Given the description of an element on the screen output the (x, y) to click on. 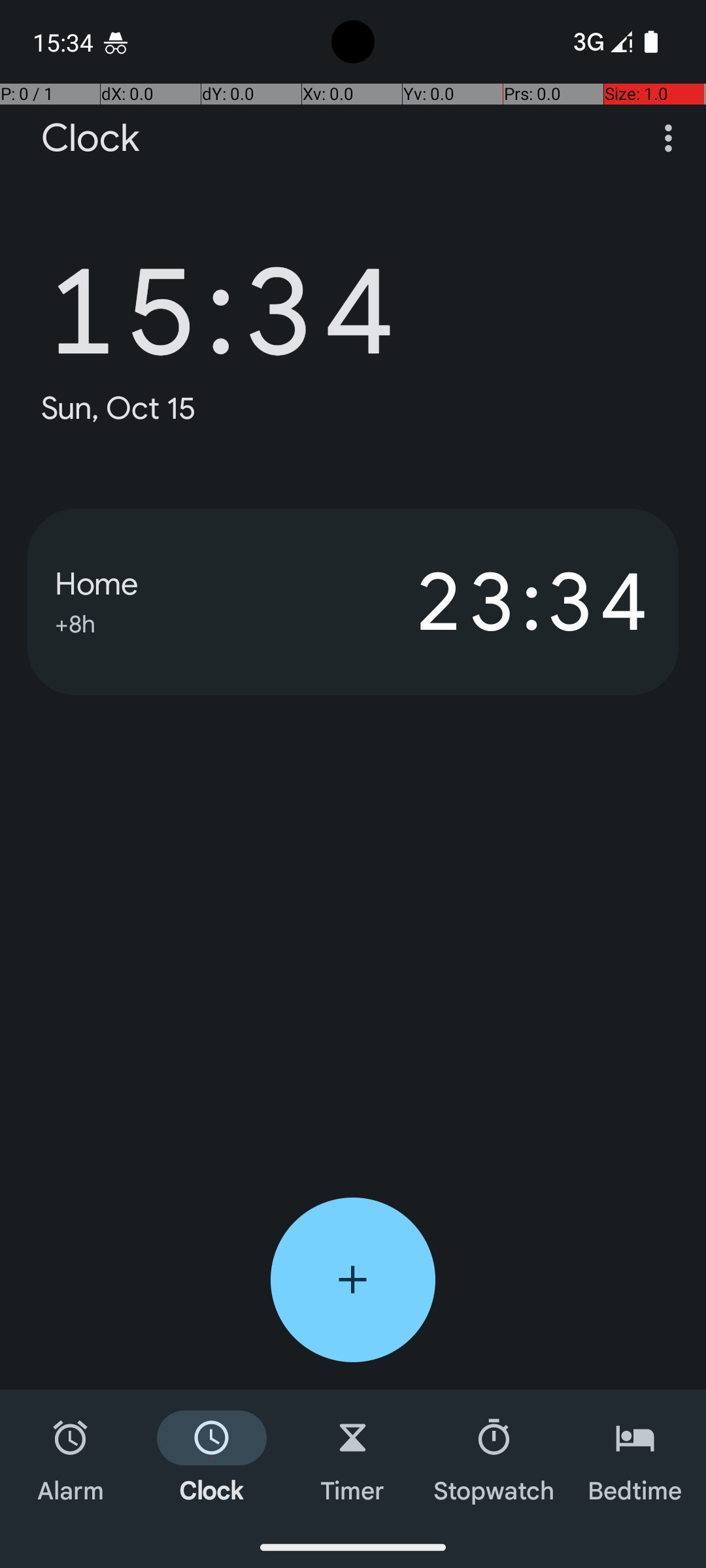
+8h Element type: android.widget.TextView (74, 621)
23:34 Element type: android.widget.TextView (502, 601)
